Given the description of an element on the screen output the (x, y) to click on. 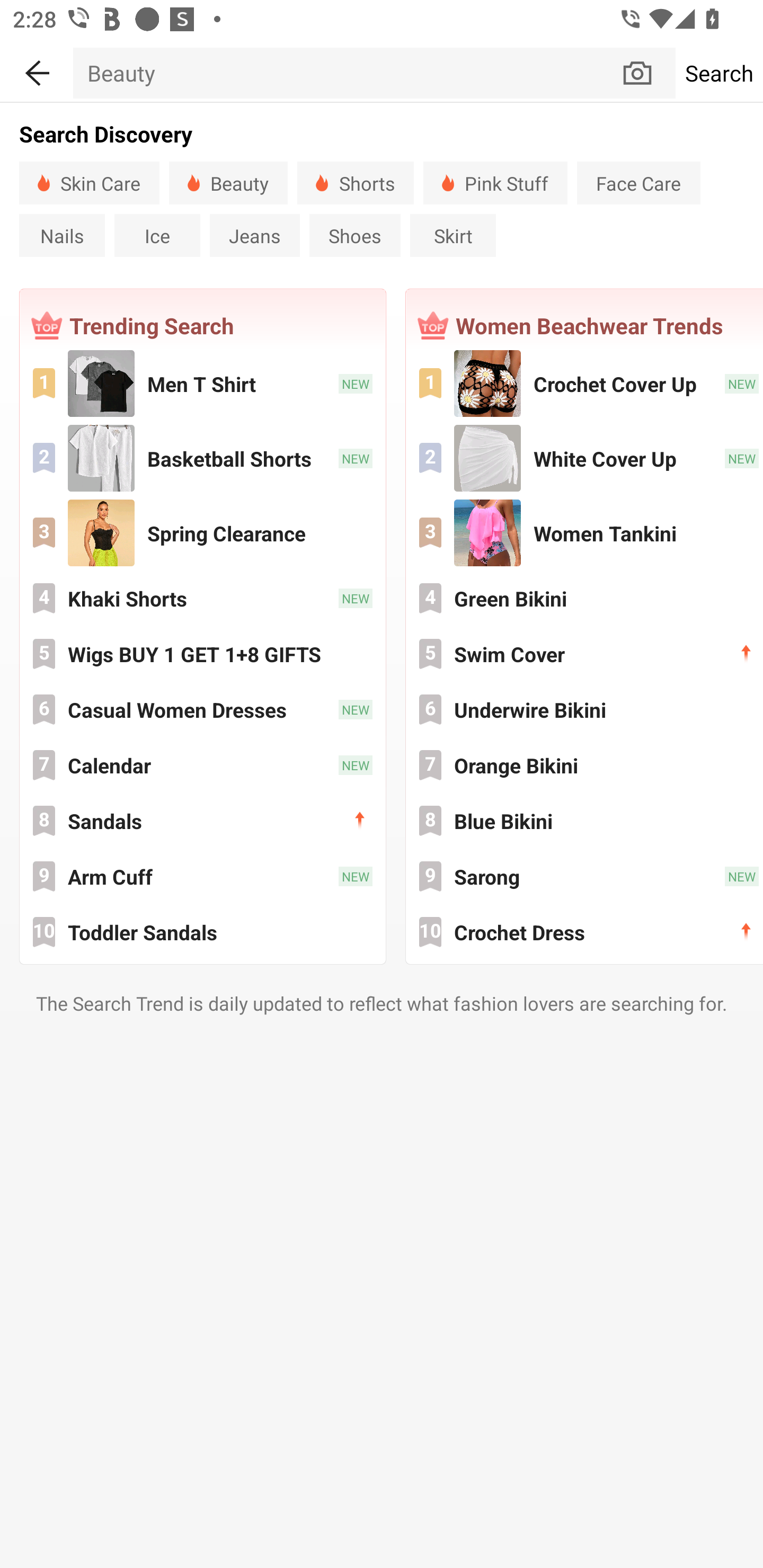
BACK (36, 69)
Beauty (346, 72)
Search (719, 72)
Skin Care (89, 182)
Beauty (228, 182)
Shorts (355, 182)
Pink Stuff (495, 182)
Face Care (638, 182)
Nails (62, 235)
Ice (156, 235)
Jeans (254, 235)
Shoes (354, 235)
Skirt (452, 235)
Men T Shirt 1 Men T Shirt NEW (202, 383)
Crochet Cover Up 1 Crochet Cover Up NEW (584, 383)
Basketball Shorts 2 Basketball Shorts NEW (202, 458)
White Cover Up 2 White Cover Up NEW (584, 458)
Spring Clearance 3 Spring Clearance (202, 533)
Women Tankini 3 Women Tankini (584, 533)
Khaki Shorts 4 Khaki Shorts NEW (202, 597)
Green Bikini 4 Green Bikini (584, 597)
Swim Cover 5 Swim Cover (584, 653)
Casual Women Dresses 6 Casual Women Dresses NEW (202, 709)
Underwire Bikini 6 Underwire Bikini (584, 709)
Calendar 7 Calendar NEW (202, 764)
Orange Bikini 7 Orange Bikini (584, 764)
Sandals 8 Sandals (202, 820)
Blue Bikini 8 Blue Bikini (584, 820)
Arm Cuff 9 Arm Cuff NEW (202, 876)
Sarong 9 Sarong NEW (584, 876)
Toddler Sandals 10 Toddler Sandals (202, 930)
Crochet Dress 10 Crochet Dress (584, 930)
